Given the description of an element on the screen output the (x, y) to click on. 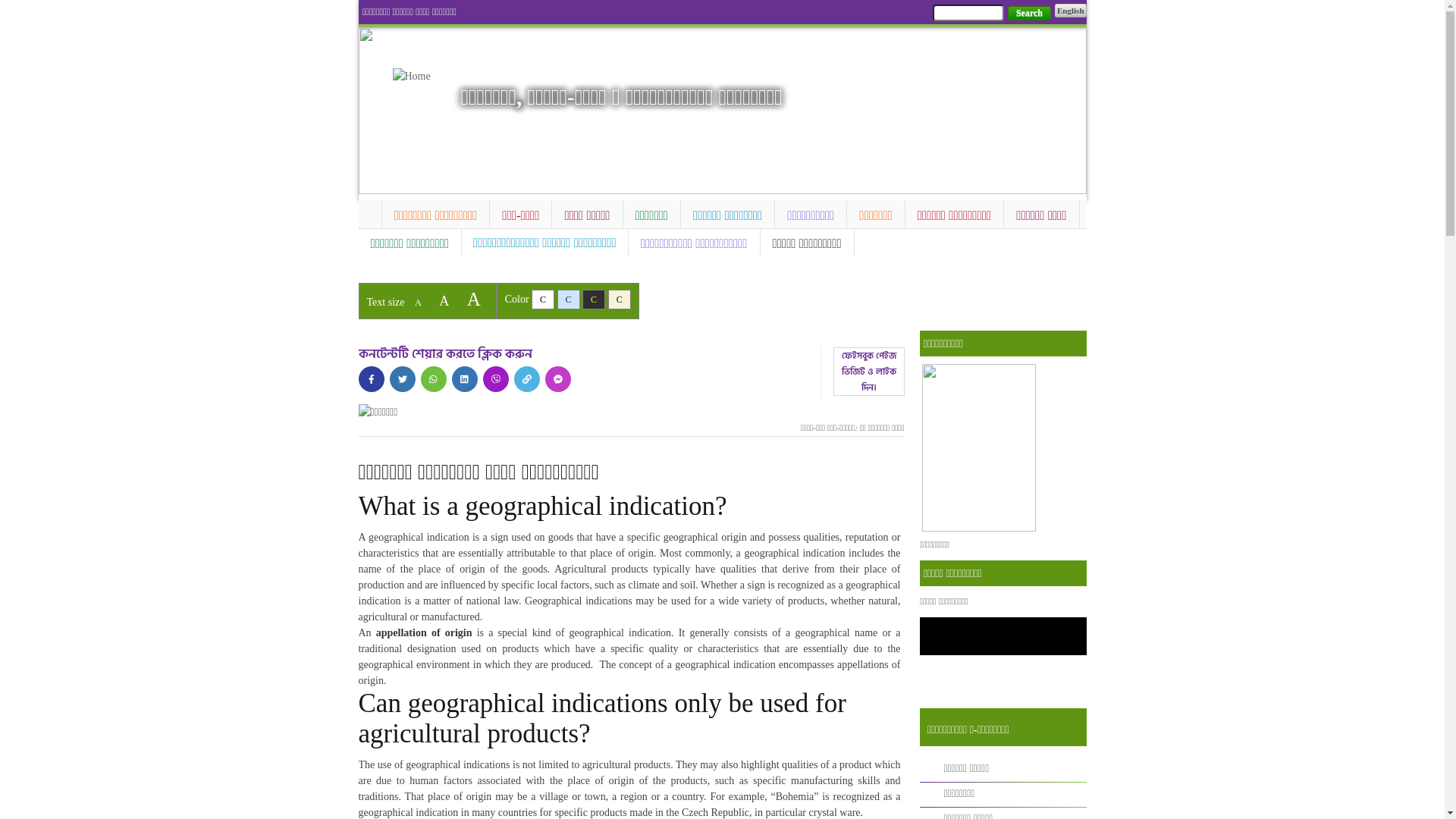
Home Element type: hover (418, 76)
C Element type: text (542, 299)
Home Element type: hover (368, 211)
C Element type: text (619, 299)
Search Element type: text (1029, 13)
A Element type: text (443, 300)
A Element type: text (473, 299)
C Element type: text (593, 299)
English Element type: text (1069, 10)
A Element type: text (418, 302)
C Element type: text (568, 299)
